Given the description of an element on the screen output the (x, y) to click on. 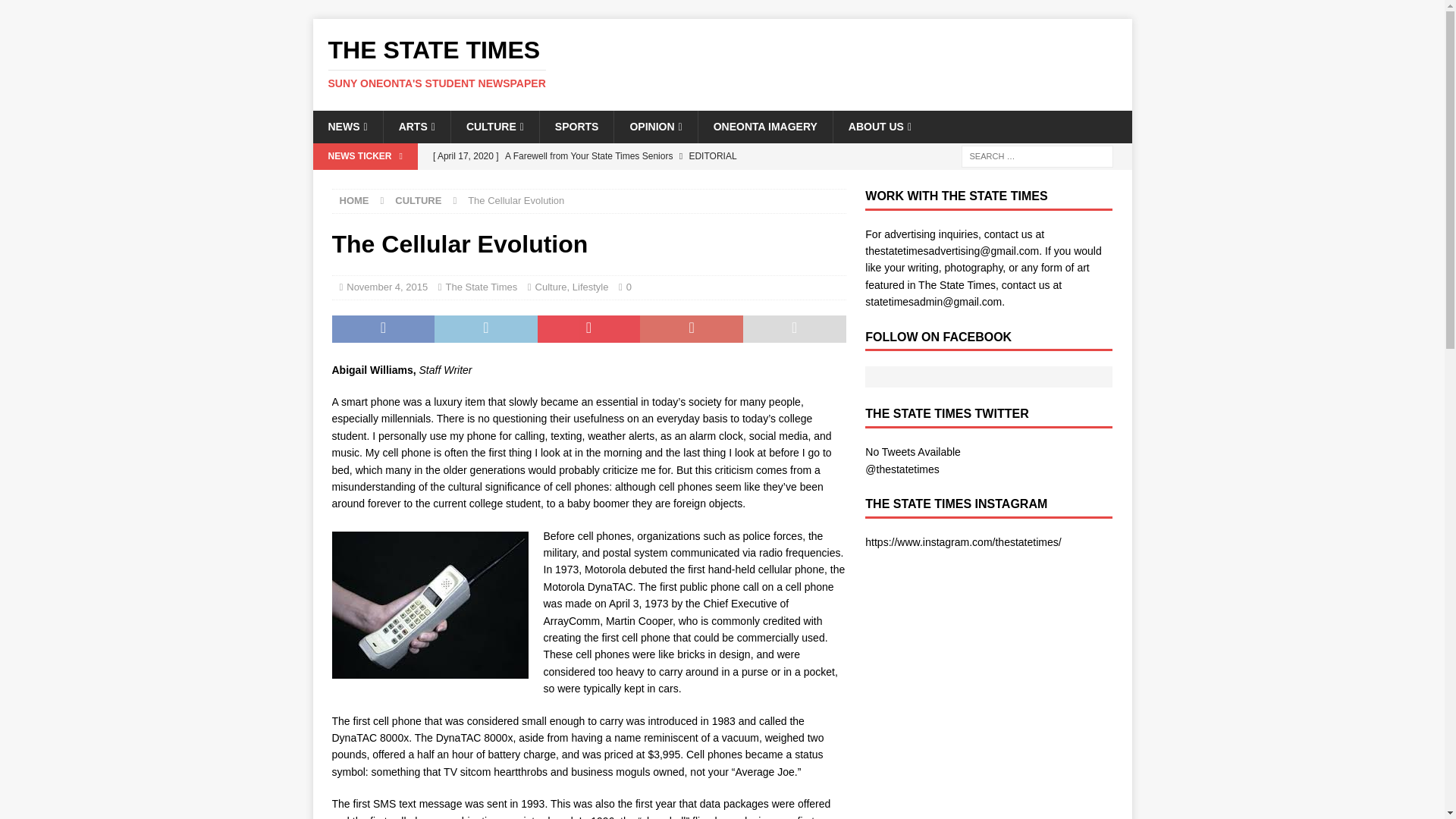
A Farewell from Your State Times Seniors (634, 155)
The State Times (721, 63)
NEWS (347, 126)
ARTS (415, 126)
